Given the description of an element on the screen output the (x, y) to click on. 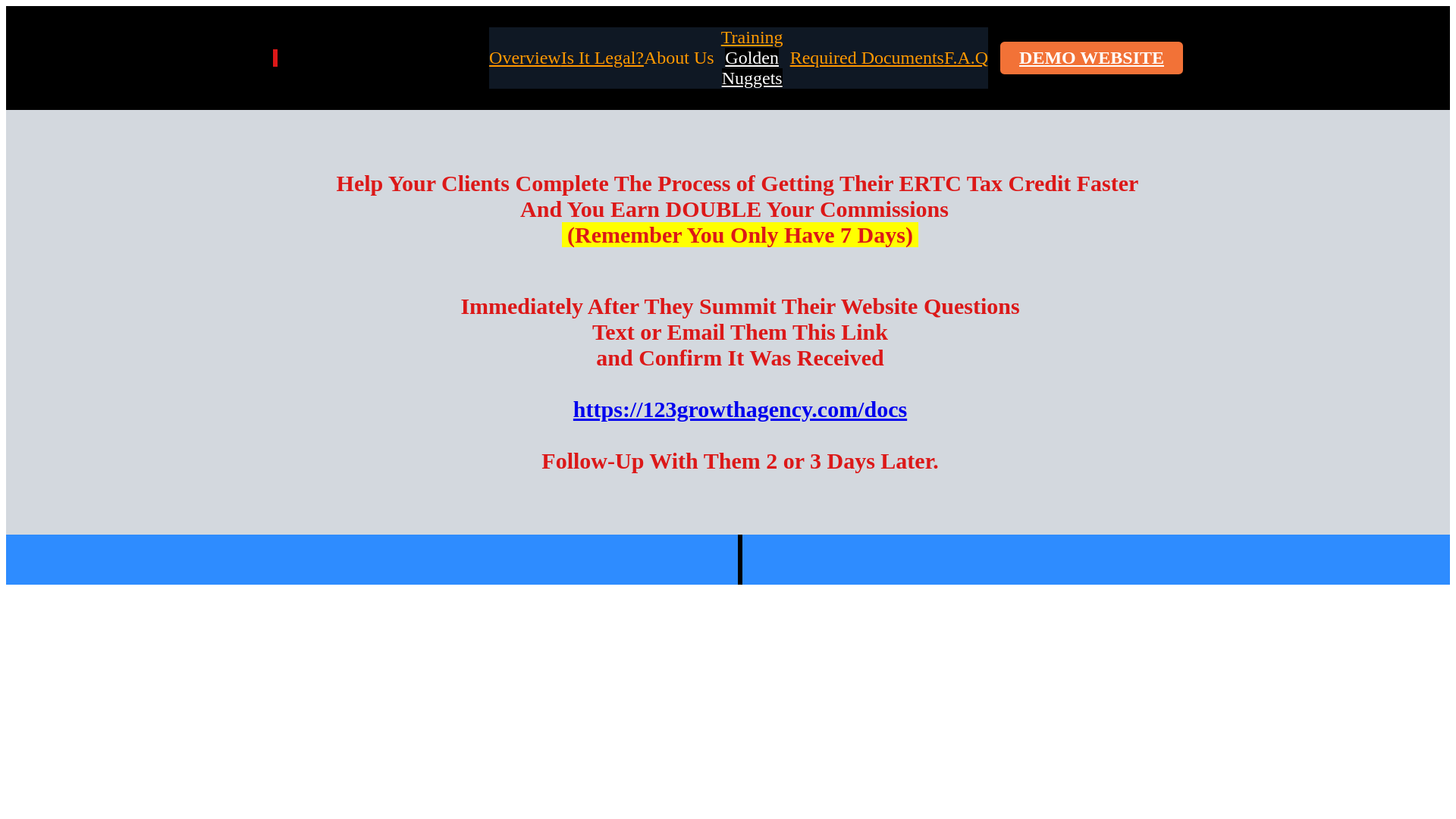
Training Element type: text (752, 37)
Required Documents Element type: text (867, 57)
Golden Nuggets Element type: text (751, 67)
DEMO WEBSITE Element type: text (1091, 58)
About Us Element type: text (678, 57)
Overview Element type: text (525, 57)
F.A.Q Element type: text (966, 57)
Is It Legal? Element type: text (602, 57)
https://123growthagency.com/docs Element type: text (739, 408)
